Given the description of an element on the screen output the (x, y) to click on. 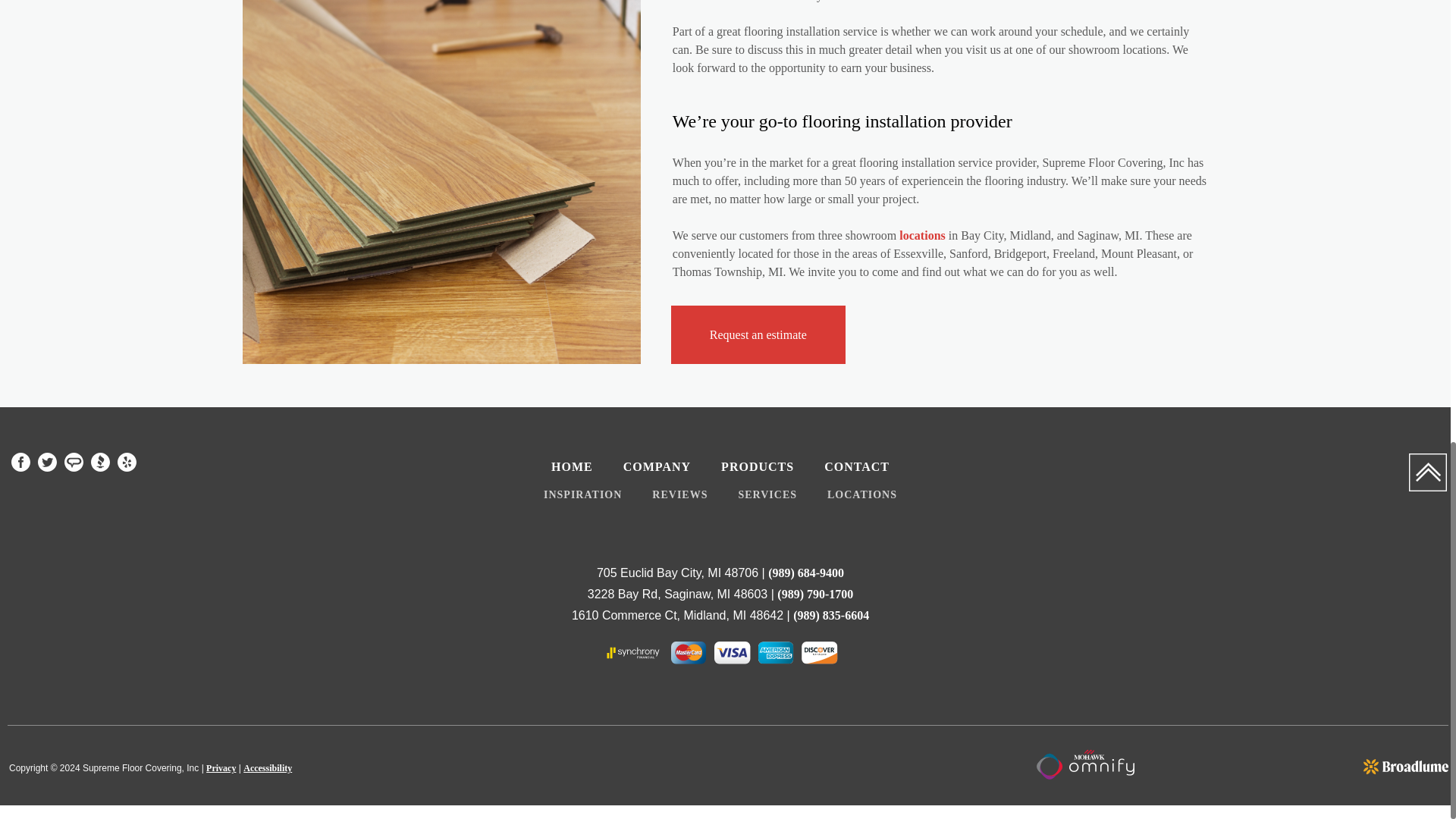
Angies List (73, 461)
Facebook (20, 461)
Twitter (46, 461)
